Given the description of an element on the screen output the (x, y) to click on. 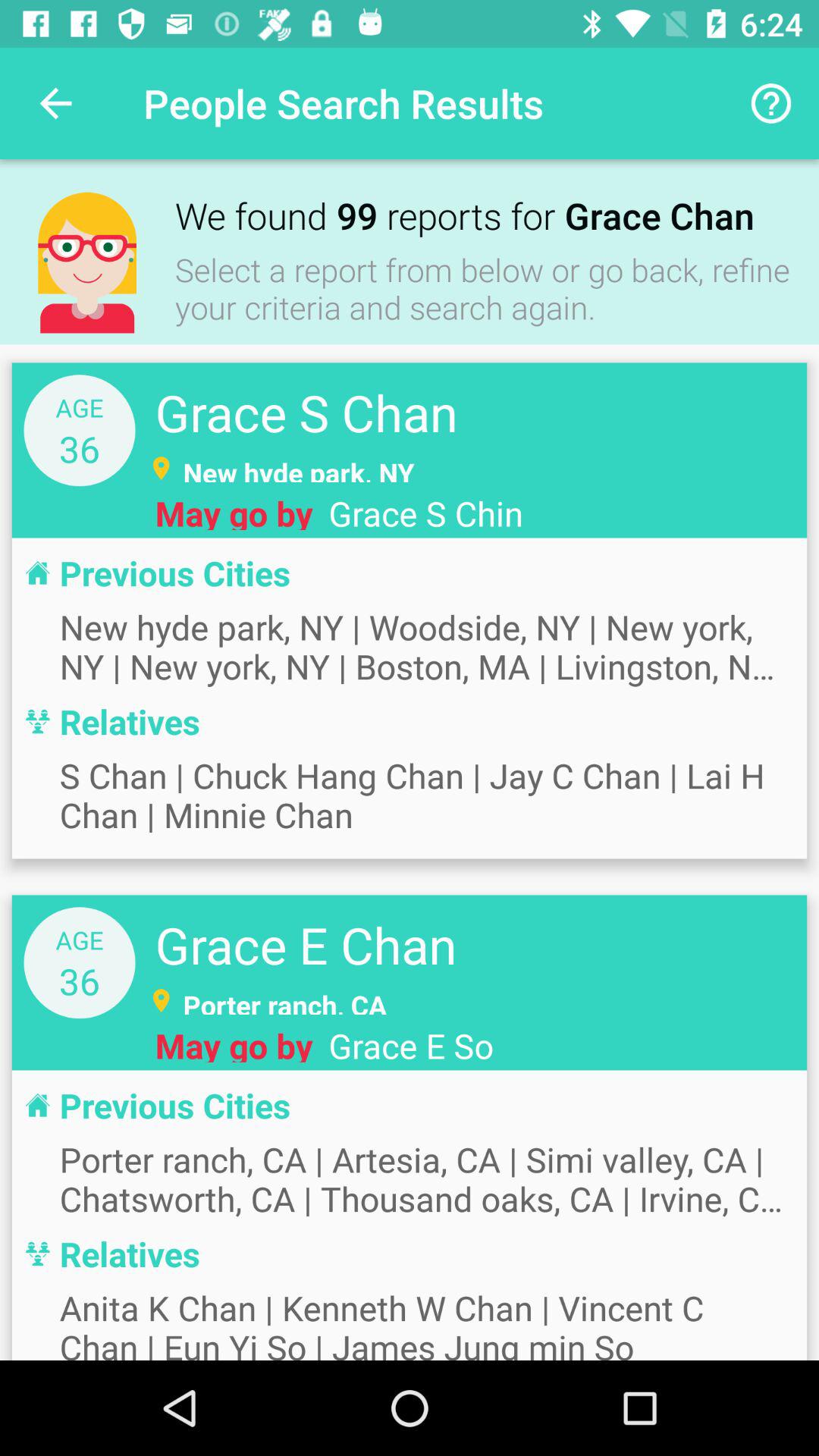
turn off the item next to people search results (771, 103)
